Given the description of an element on the screen output the (x, y) to click on. 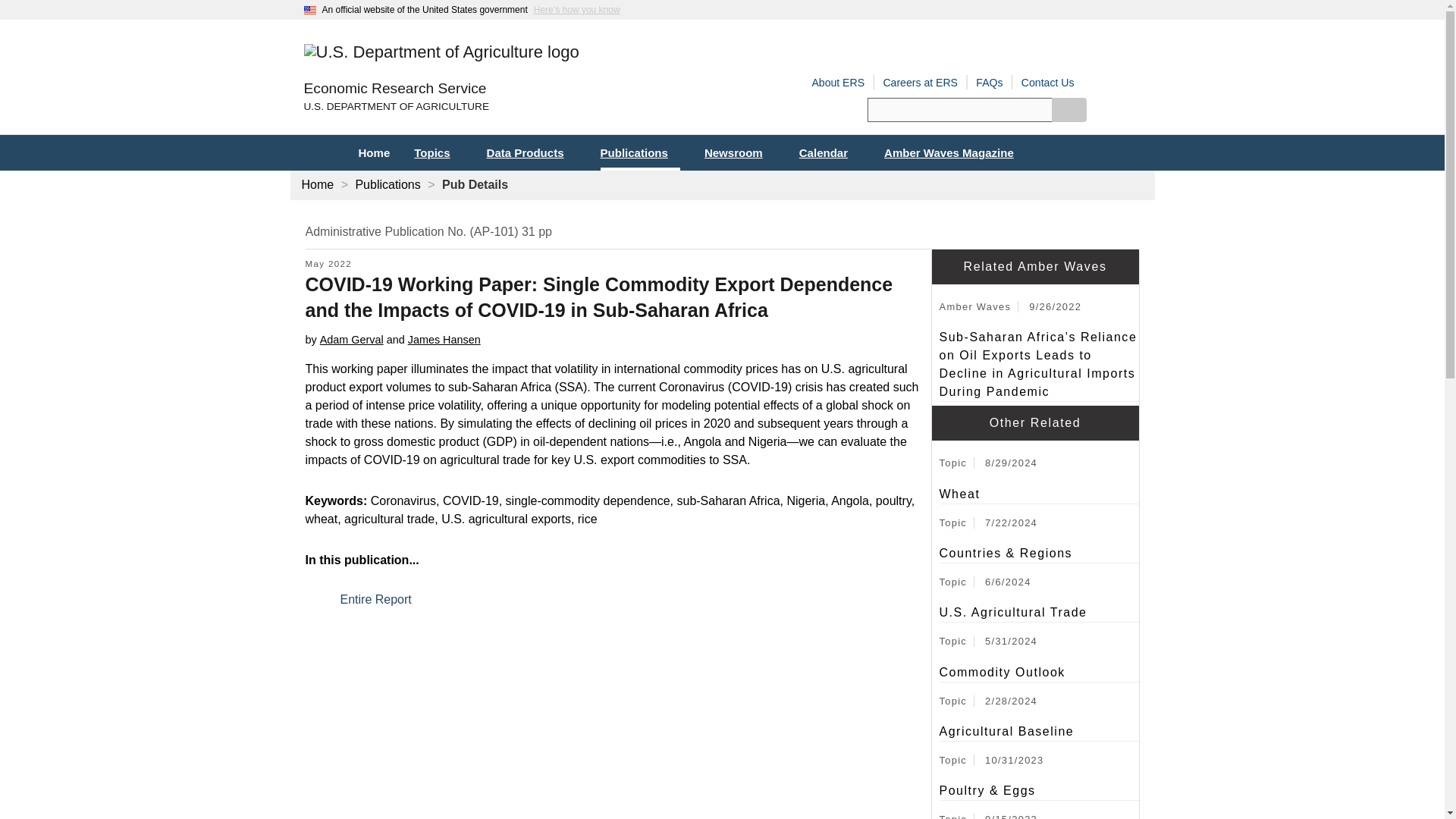
Careers at ERS (920, 81)
USDA.gov (512, 107)
Wheat (1038, 494)
Agricultural Baseline (1038, 731)
Adam Gerval (352, 339)
Publications (387, 184)
About ERS (837, 81)
Newsroom (740, 152)
Publications (640, 152)
Data Products (531, 152)
